Given the description of an element on the screen output the (x, y) to click on. 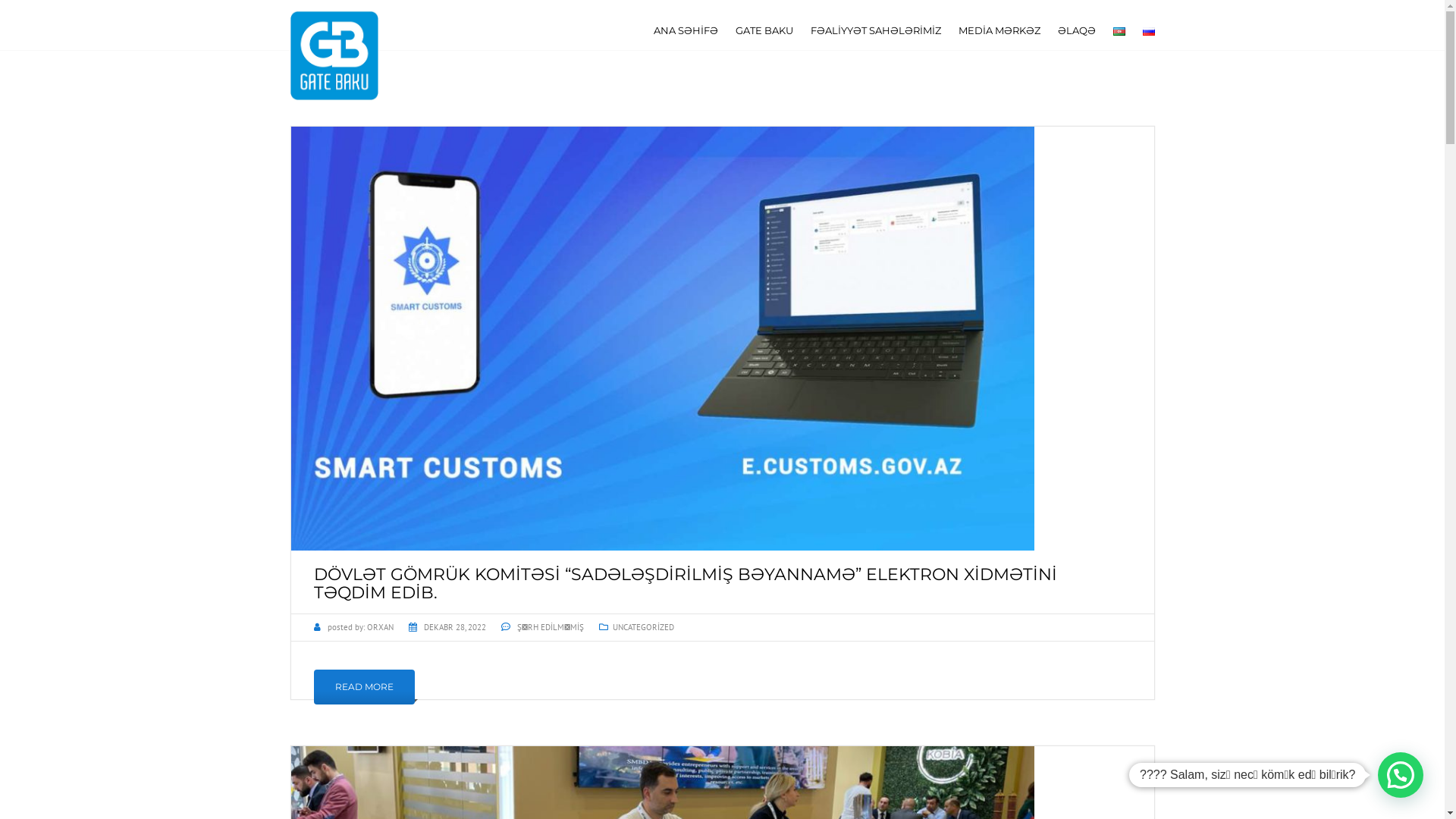
UNCATEGORIZED Element type: text (643, 626)
GATE BAKU Element type: text (764, 34)
READ MORE Element type: text (363, 686)
